Given the description of an element on the screen output the (x, y) to click on. 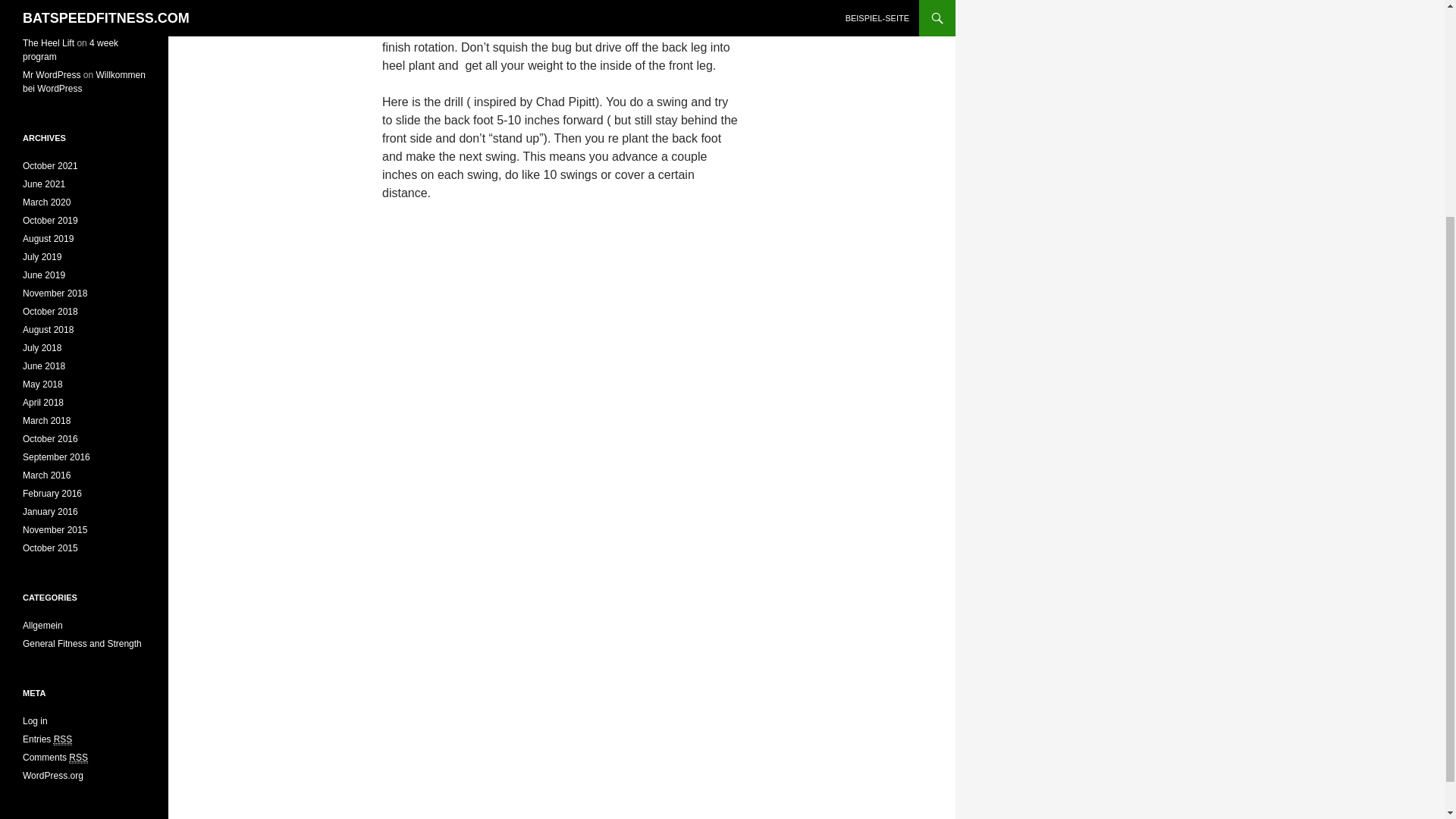
November 2018 (55, 293)
August 2018 (48, 329)
Really Simple Syndication (77, 757)
October 2021 (50, 165)
October 2019 (50, 220)
July 2019 (42, 256)
Mr WordPress (51, 74)
4 week program (70, 49)
June 2019 (44, 275)
